Given the description of an element on the screen output the (x, y) to click on. 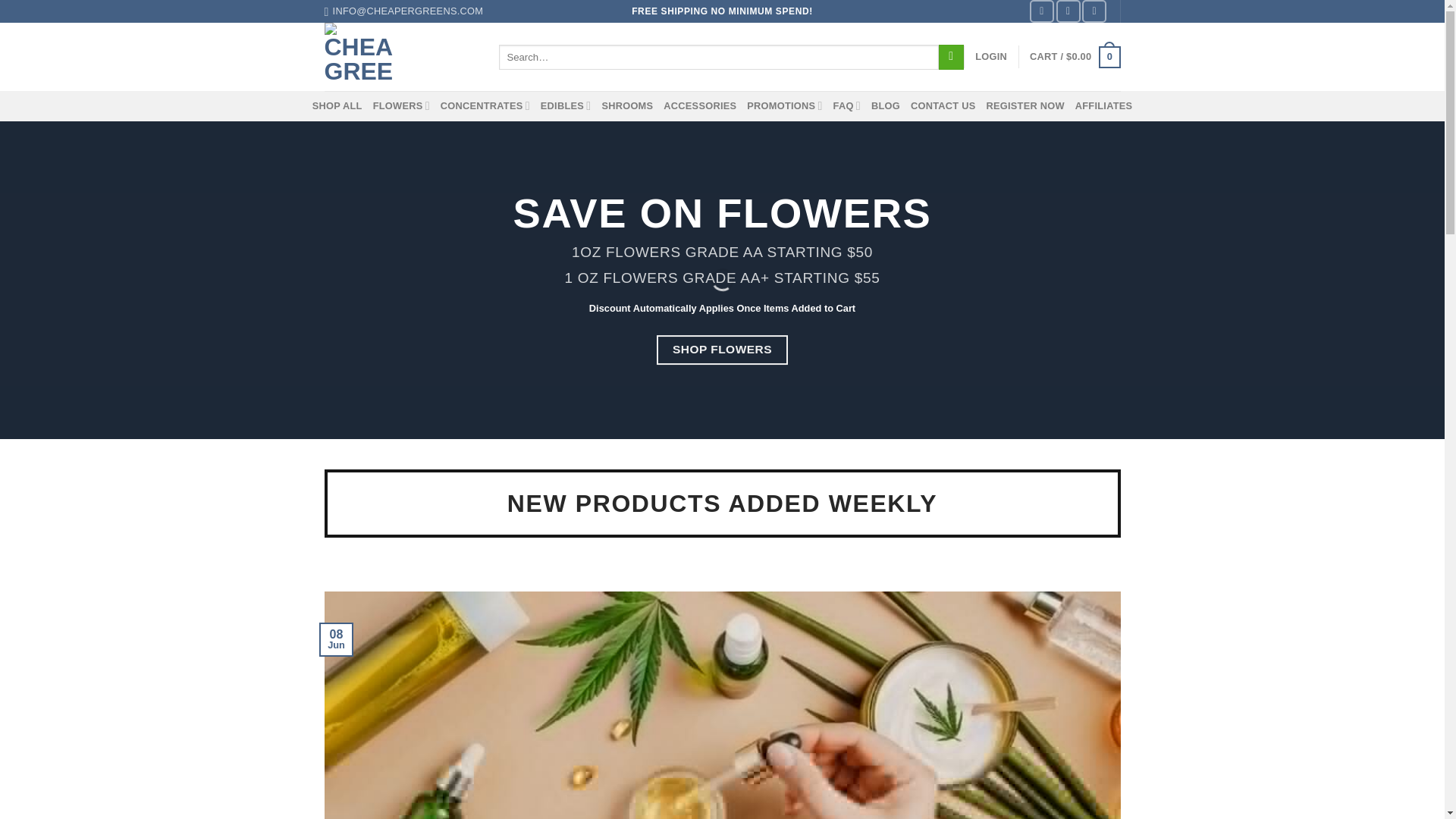
Follow on Instagram (1068, 11)
CONCENTRATES (485, 105)
Cart (1074, 57)
PROMOTIONS (784, 105)
ACCESSORIES (699, 105)
SHOP ALL (337, 105)
Follow on Facebook (1041, 11)
Cheaper Greens - Best Online Canna Store (400, 56)
SHROOMS (626, 105)
EDIBLES (565, 105)
